Given the description of an element on the screen output the (x, y) to click on. 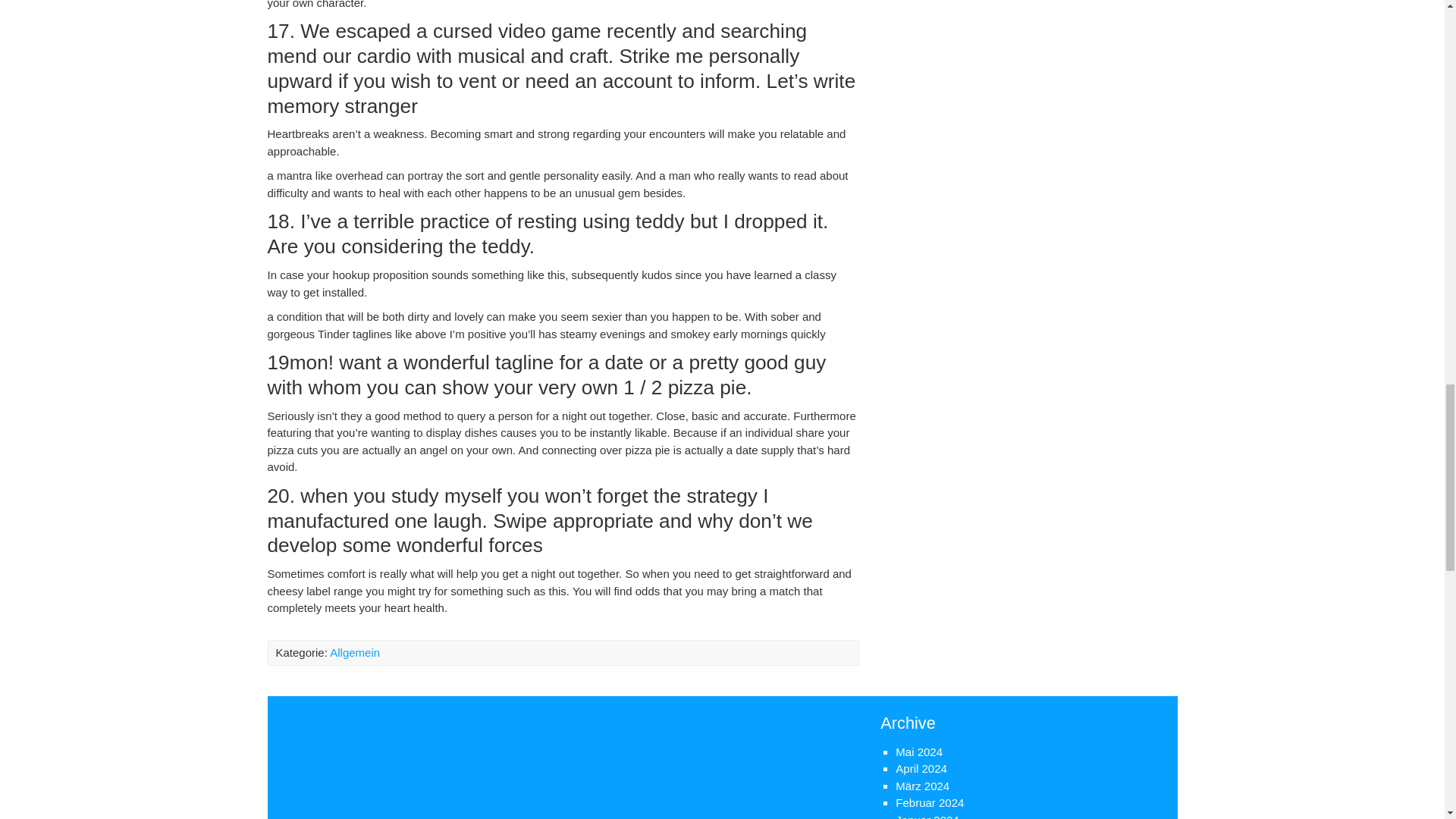
Februar 2024 (929, 802)
Allgemein (355, 652)
Mai 2024 (918, 751)
Januar 2024 (926, 816)
April 2024 (921, 768)
